Given the description of an element on the screen output the (x, y) to click on. 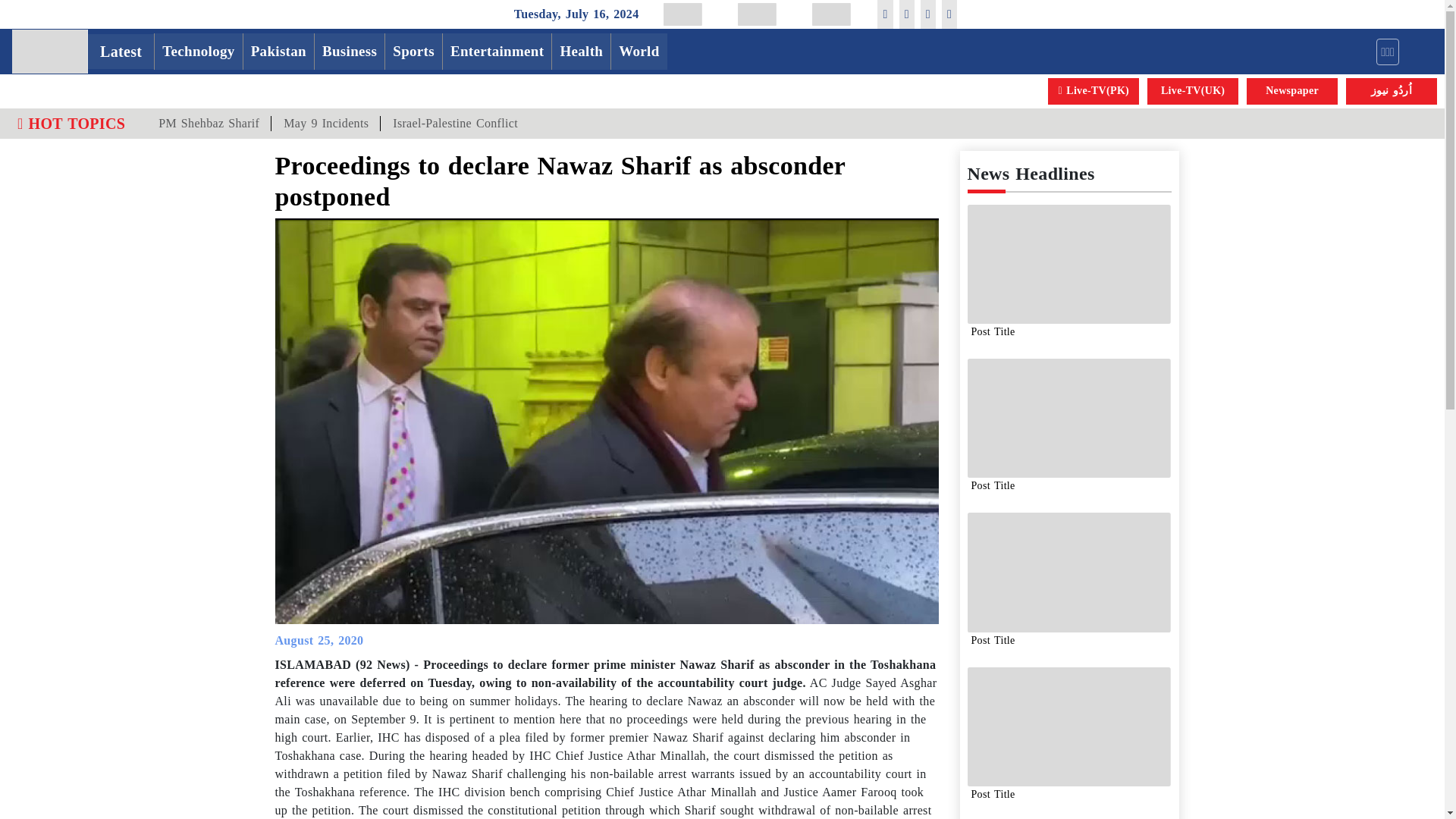
August 25, 2020 (318, 640)
Business (349, 51)
PM Shehbaz Sharif (208, 123)
Israel-Palestine Conflict (454, 123)
Pakistan (278, 51)
Technology (197, 51)
Health (580, 51)
Sports (413, 51)
Latest (120, 51)
Entertainment (496, 51)
World (638, 51)
May 9 Incidents (325, 123)
Newspaper (1292, 90)
